Given the description of an element on the screen output the (x, y) to click on. 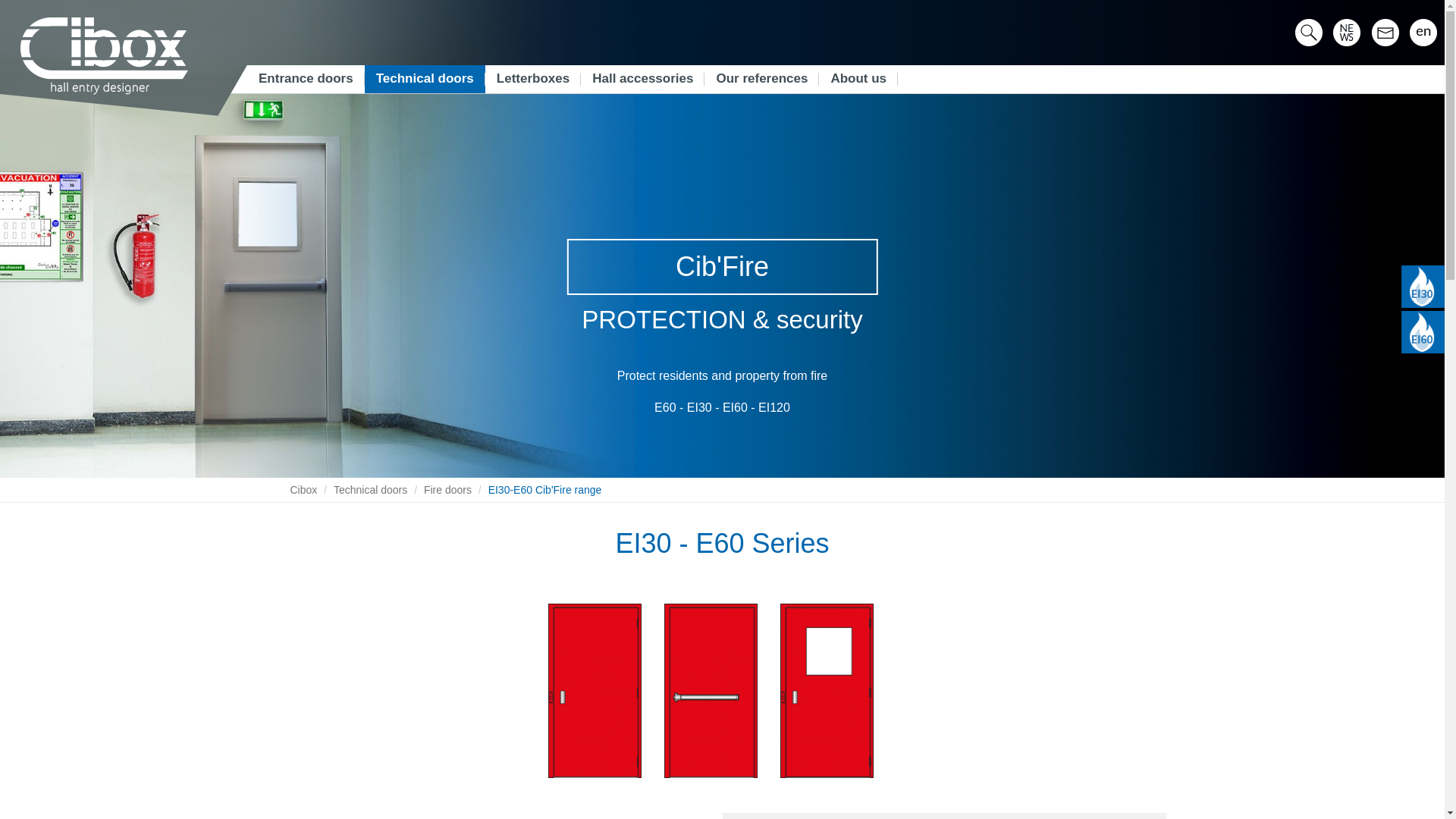
Entrance hall accessories (642, 79)
Technical doors (370, 490)
Fire doors (447, 490)
Cibox (303, 490)
